Given the description of an element on the screen output the (x, y) to click on. 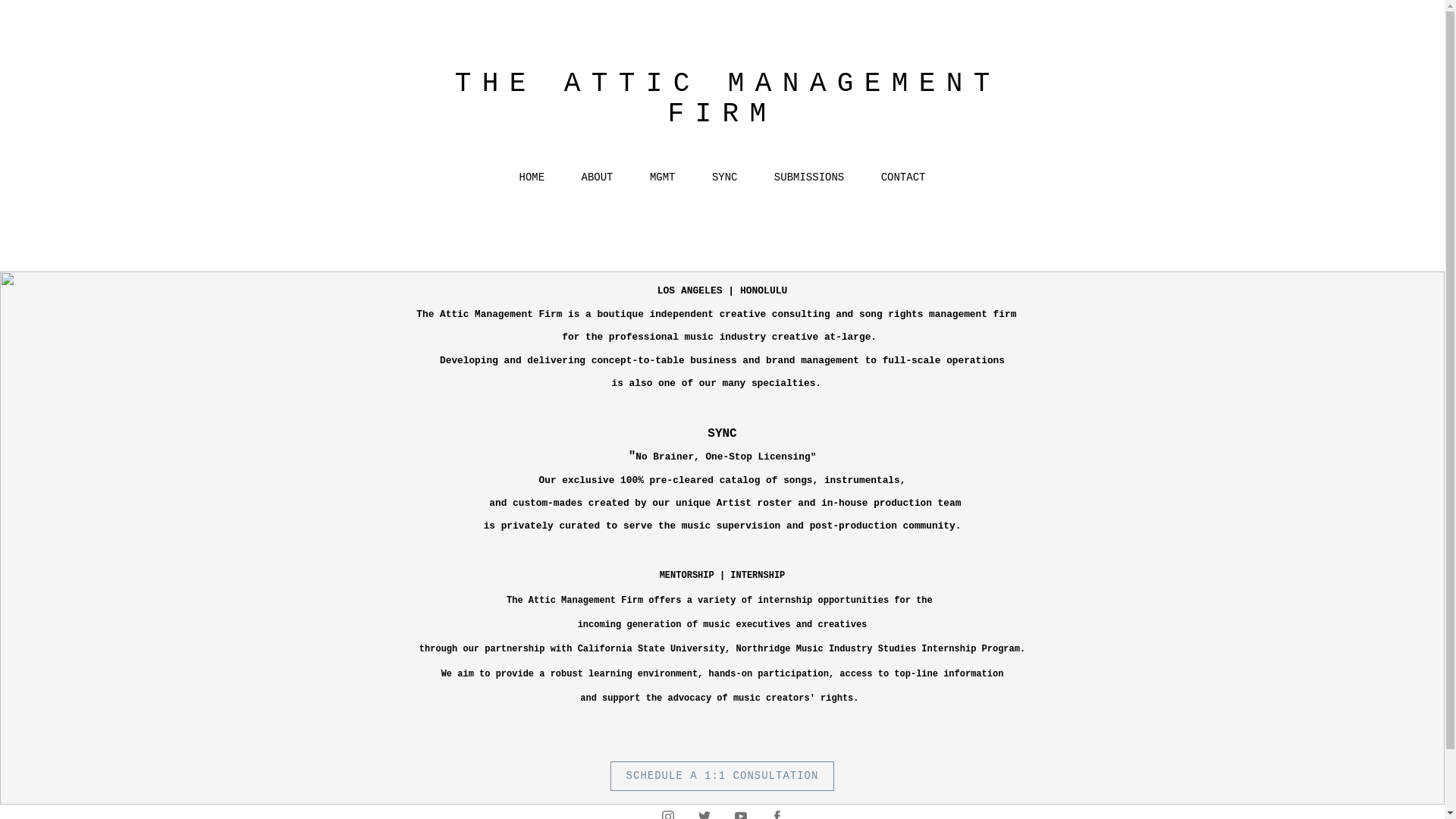
ABOUT (596, 177)
THE ATTIC MANAGEMENT FIRM (722, 98)
HOME (531, 177)
SYNC (724, 177)
CONTACT (903, 177)
MGMT (662, 177)
SUBMISSIONS (809, 177)
SCHEDULE A 1:1 CONSULTATION (722, 776)
